Given the description of an element on the screen output the (x, y) to click on. 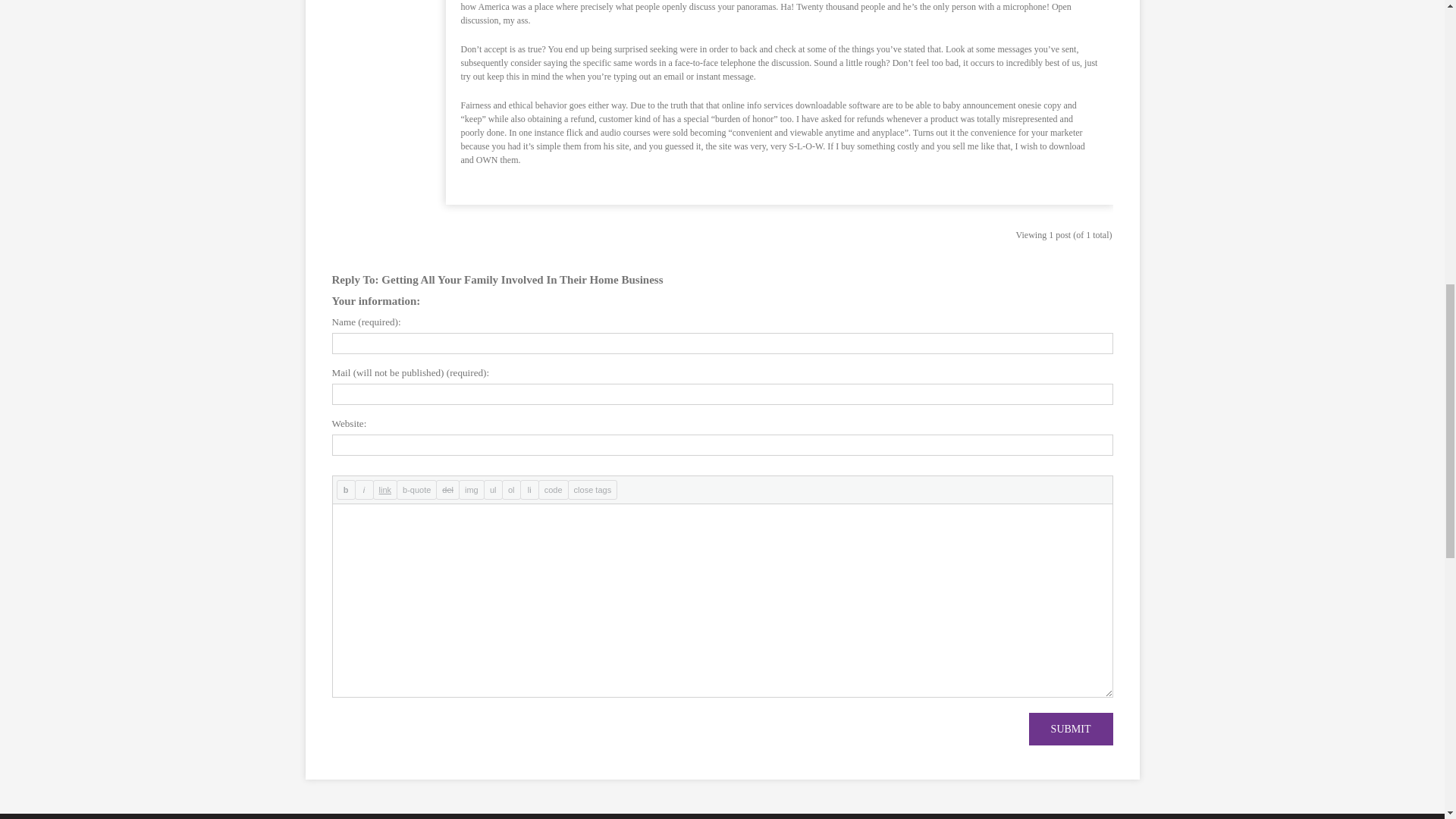
SUBMIT (1071, 728)
close tags (592, 489)
ul (492, 489)
code (553, 489)
img (471, 489)
link (384, 489)
b (345, 489)
Close all open tags (592, 489)
del (447, 489)
ol (511, 489)
li (528, 489)
b-quote (416, 489)
i (364, 489)
